Given the description of an element on the screen output the (x, y) to click on. 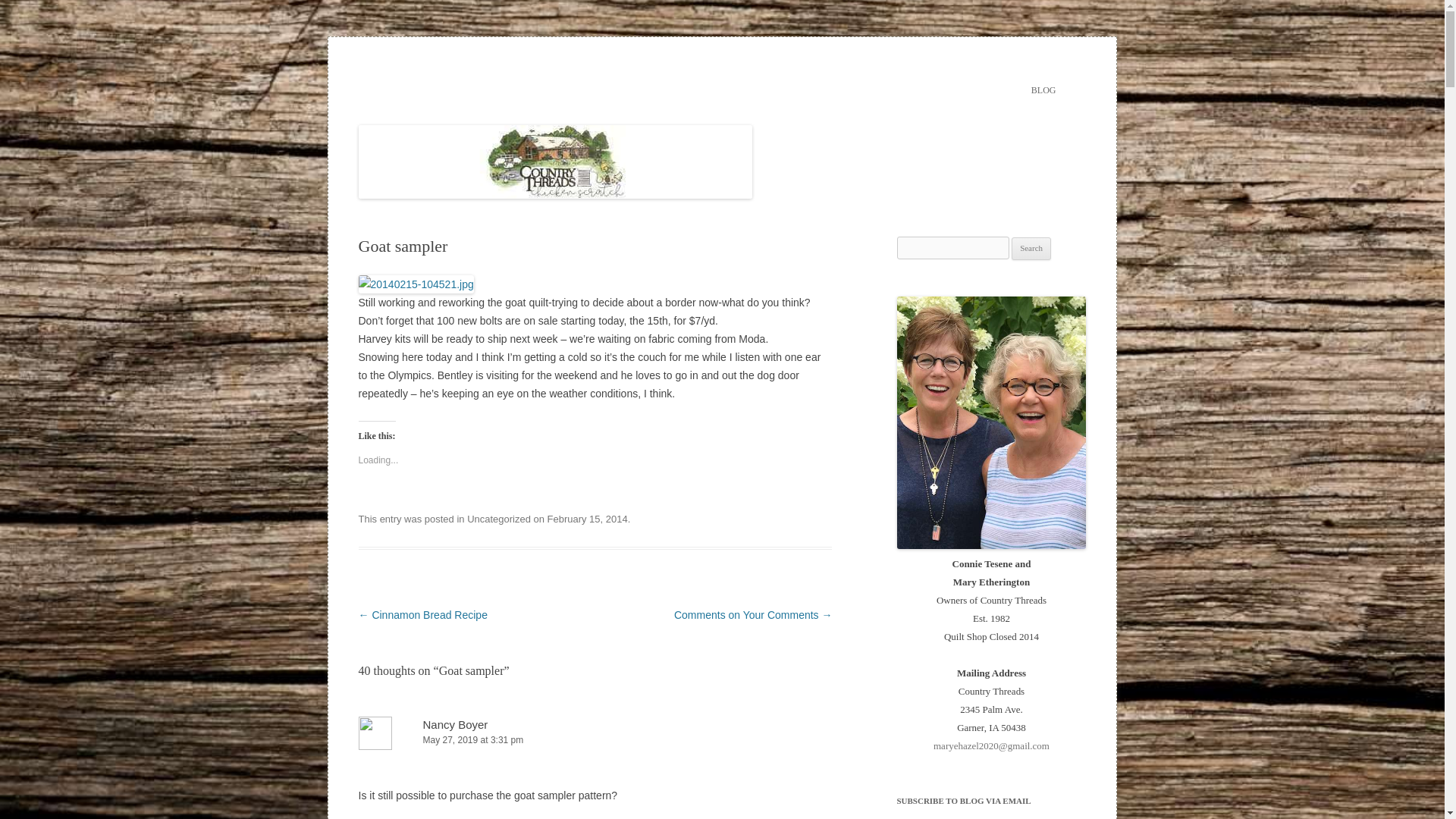
Country Threads Chicken Scratch (502, 73)
February 15, 2014 (587, 518)
May 27, 2019 at 3:31 pm (594, 740)
10:52 am (587, 518)
Search (1031, 248)
Uncategorized (499, 518)
